Given the description of an element on the screen output the (x, y) to click on. 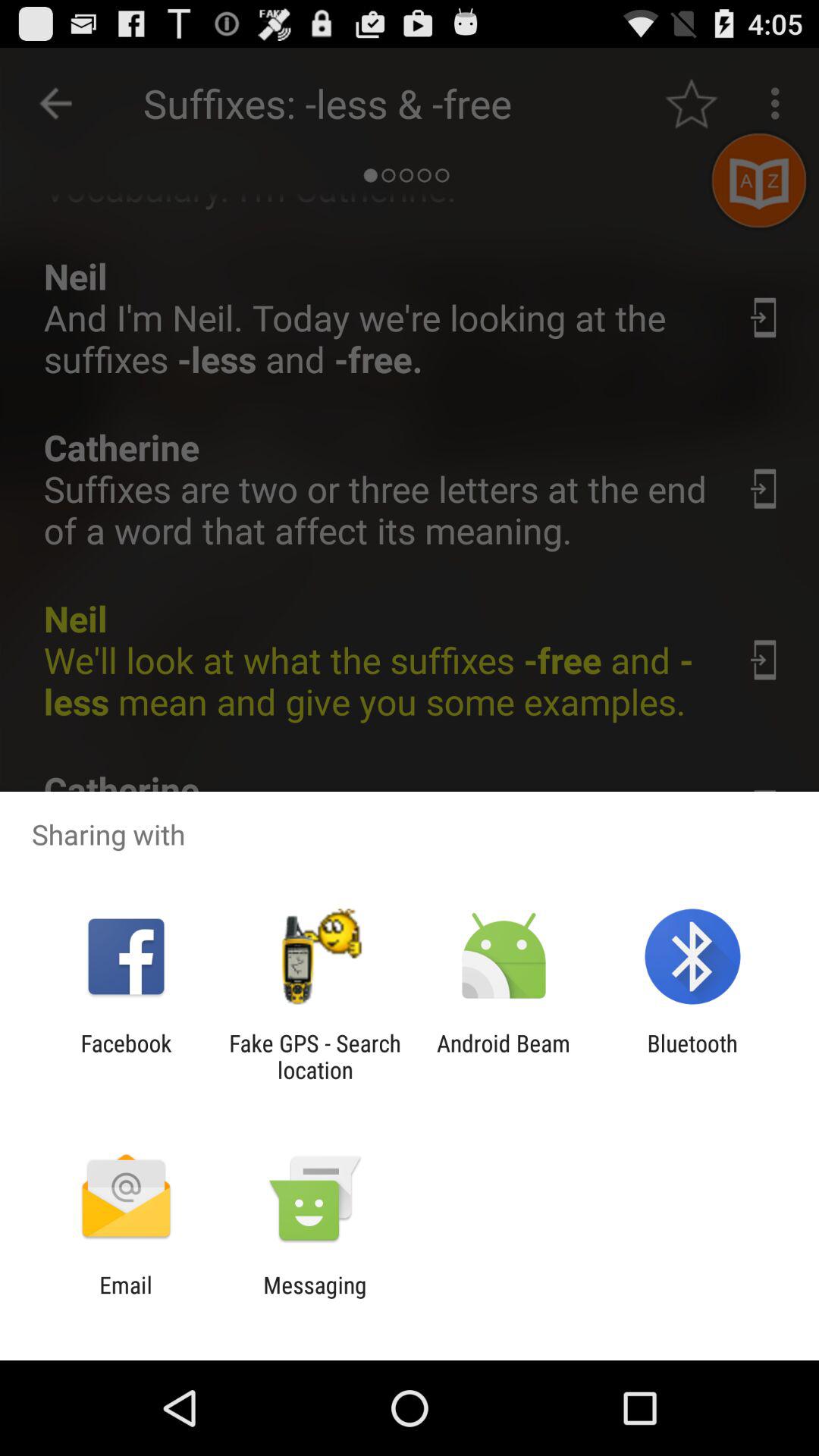
press the app to the left of android beam (314, 1056)
